Given the description of an element on the screen output the (x, y) to click on. 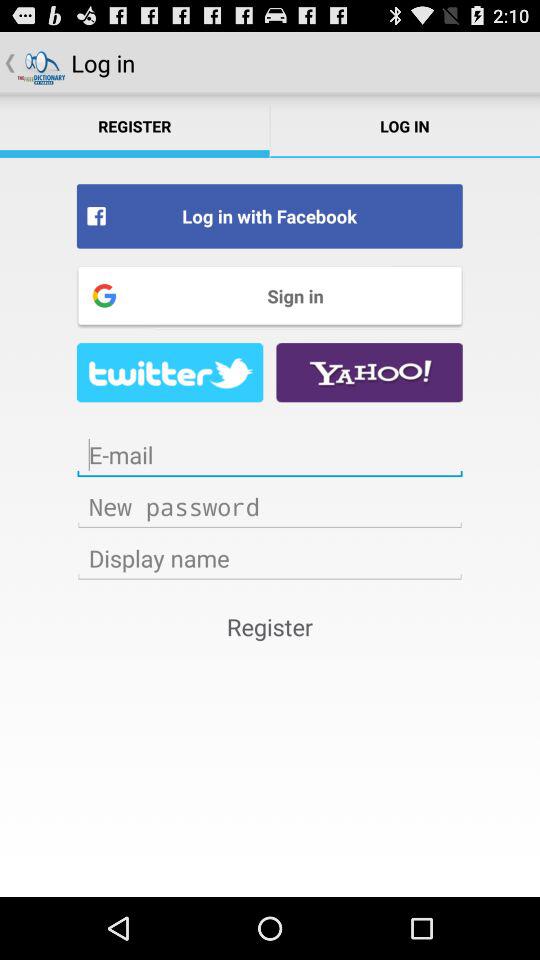
create the password (269, 506)
